Given the description of an element on the screen output the (x, y) to click on. 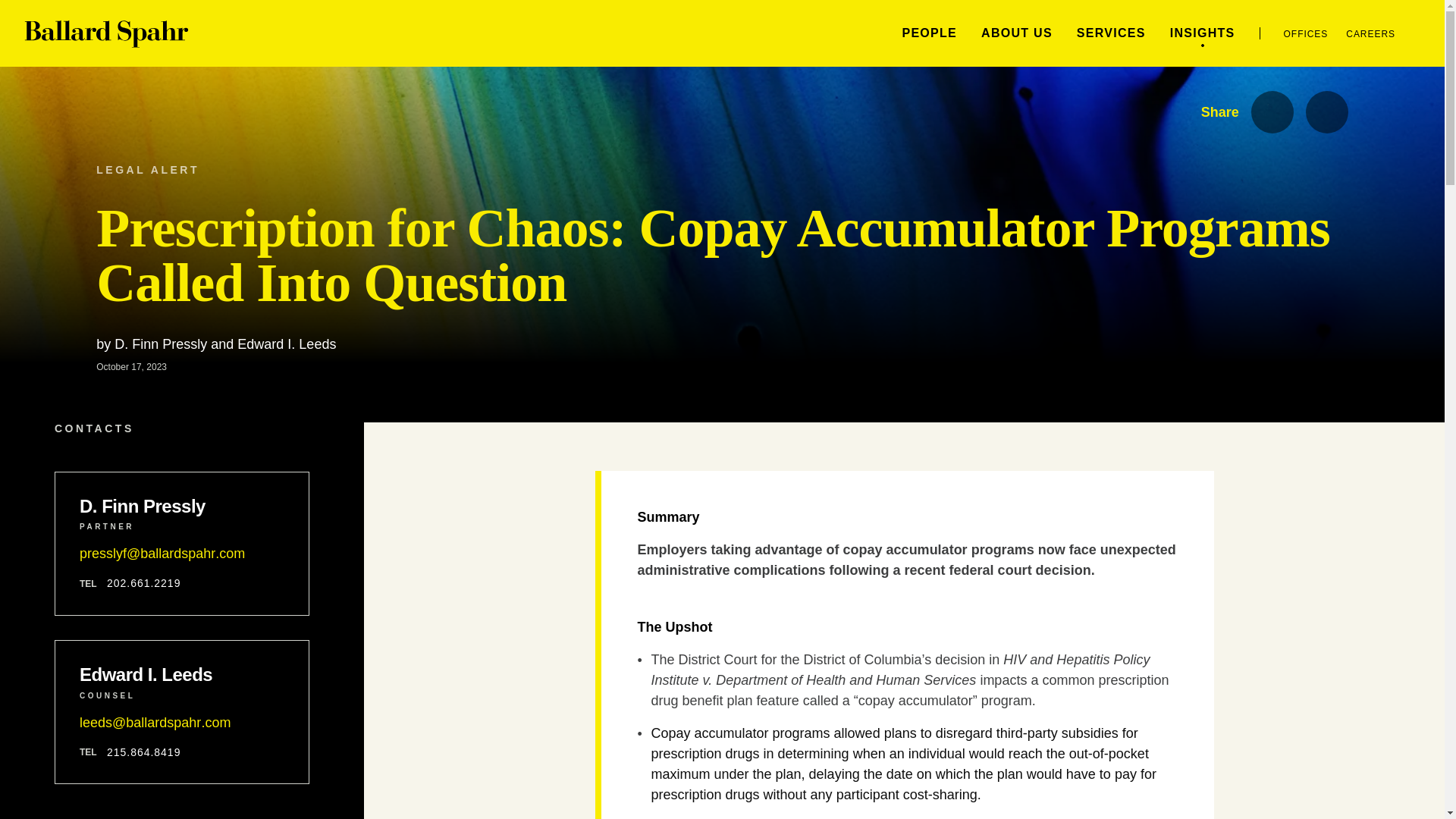
SERVICES (1111, 32)
INSIGHTS (1202, 32)
Open Search Menu (1425, 33)
Edward I. Leeds (181, 674)
202.661.2219 (143, 583)
CAREERS (1369, 33)
215.864.8419 (143, 752)
ABOUT US (1016, 32)
D. Finn Pressly (181, 506)
PEOPLE (928, 32)
OFFICES (1305, 33)
